Given the description of an element on the screen output the (x, y) to click on. 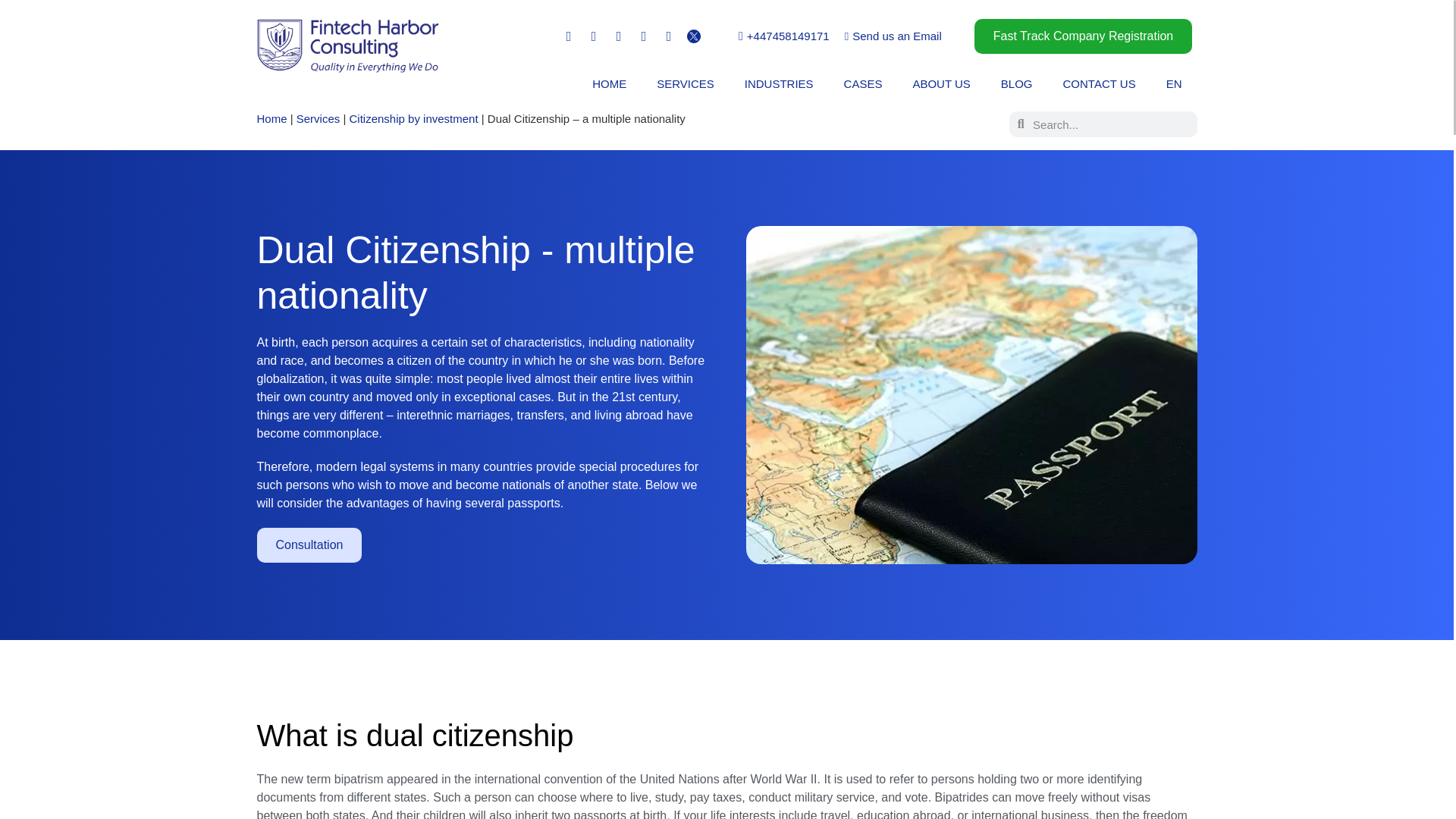
Send us an Email (893, 36)
Fast Track Company Registration (1083, 36)
HOME (609, 83)
SERVICES (685, 83)
